Given the description of an element on the screen output the (x, y) to click on. 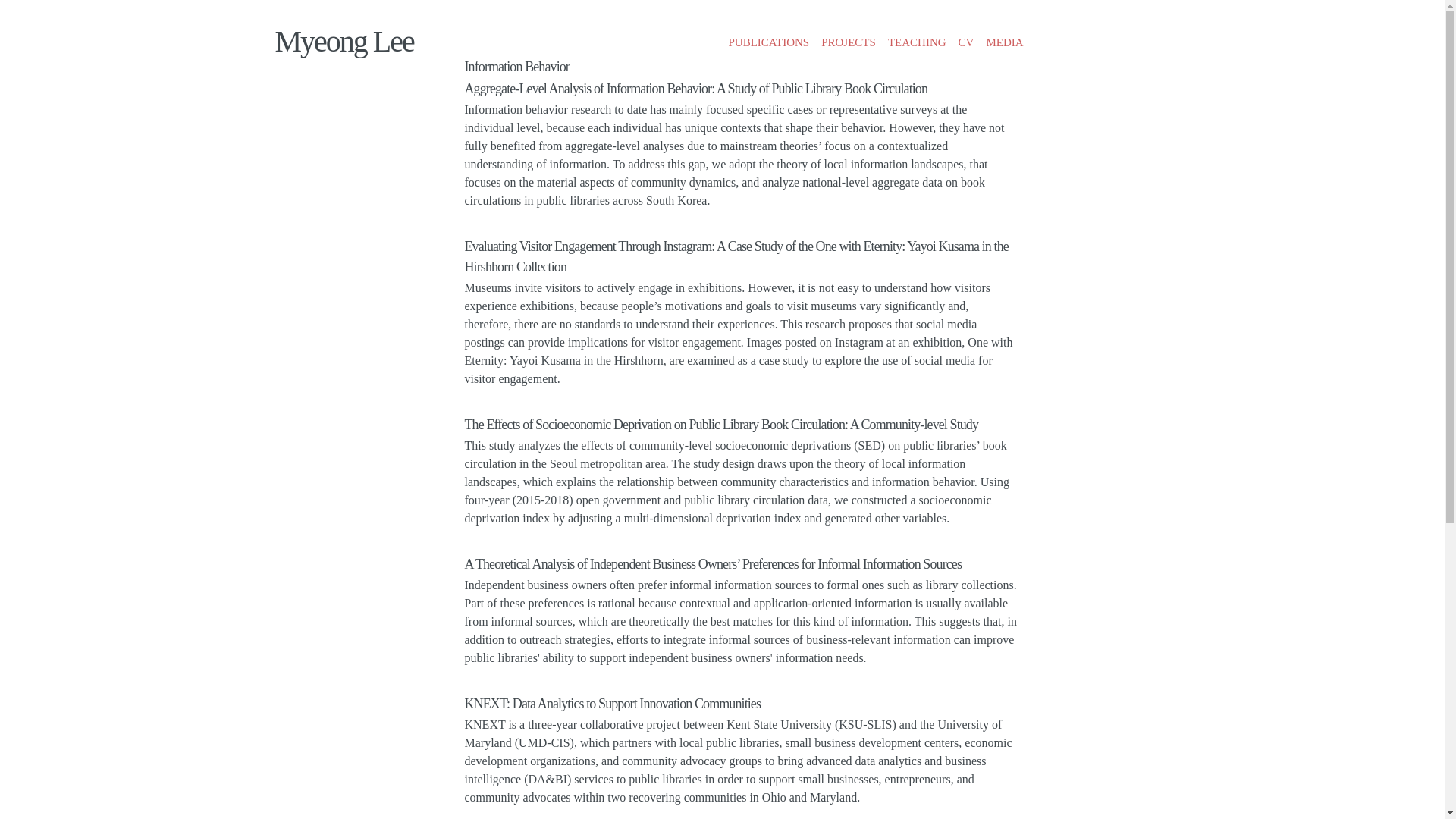
Home (344, 41)
KNEXT: Data Analytics to Support Innovation Communities (612, 703)
TEACHING (917, 42)
MEDIA (1004, 42)
KNEXT: Data Analytics to Support Innovation Communities (612, 703)
PROJECTS (848, 42)
Skip to main content (683, 12)
